Given the description of an element on the screen output the (x, y) to click on. 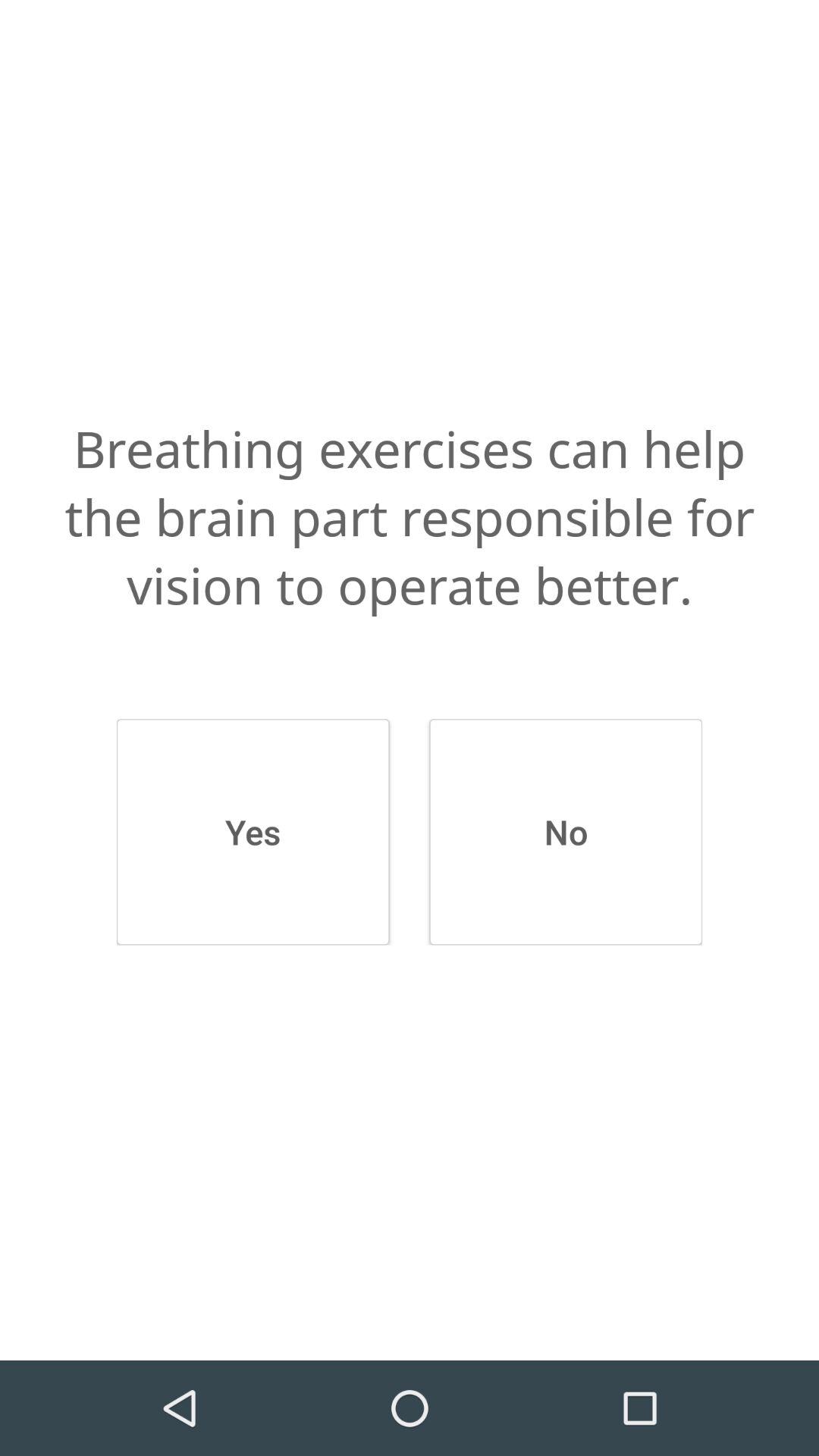
click the icon on the left (252, 831)
